Given the description of an element on the screen output the (x, y) to click on. 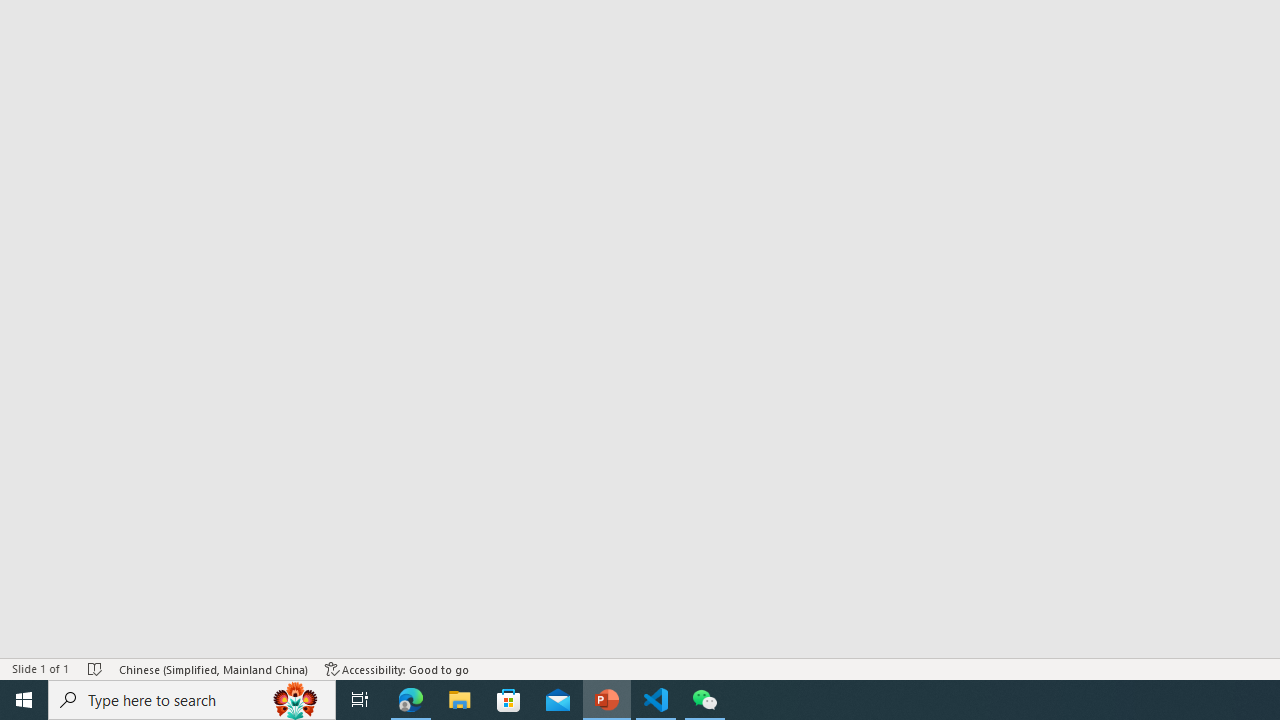
Accessibility Checker Accessibility: Good to go (397, 668)
Spell Check No Errors (95, 668)
